Given the description of an element on the screen output the (x, y) to click on. 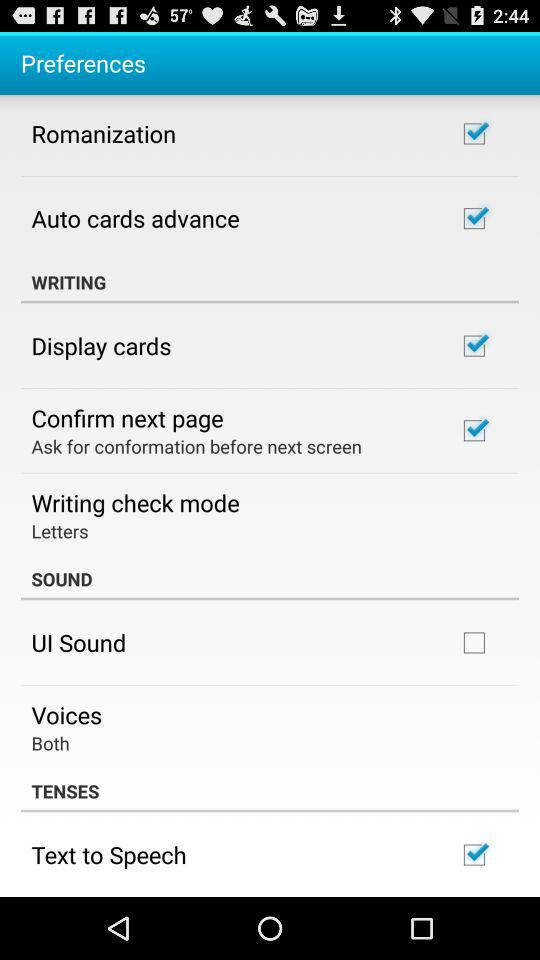
swipe to the tenses item (270, 791)
